Given the description of an element on the screen output the (x, y) to click on. 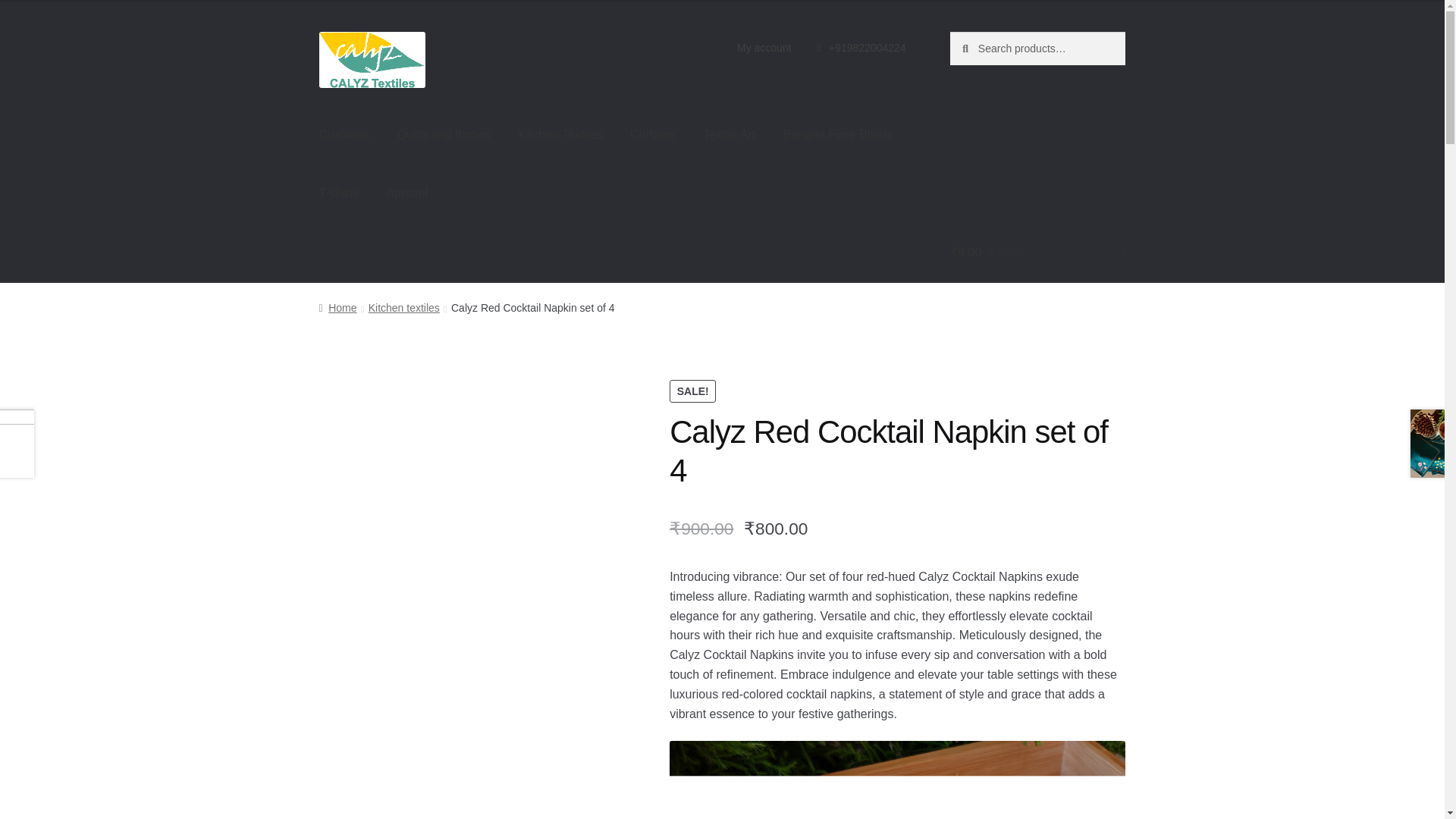
View your shopping cart (1037, 251)
Home (337, 307)
Kitchen Textiles (560, 134)
Curtains (652, 134)
T-shirts (339, 193)
Banana Fibre Blinds (837, 134)
Quilts and throws (444, 134)
Textile Art (728, 134)
Apparel (406, 193)
My account (764, 47)
Cushions (344, 134)
Kitchen textiles (403, 307)
